Given the description of an element on the screen output the (x, y) to click on. 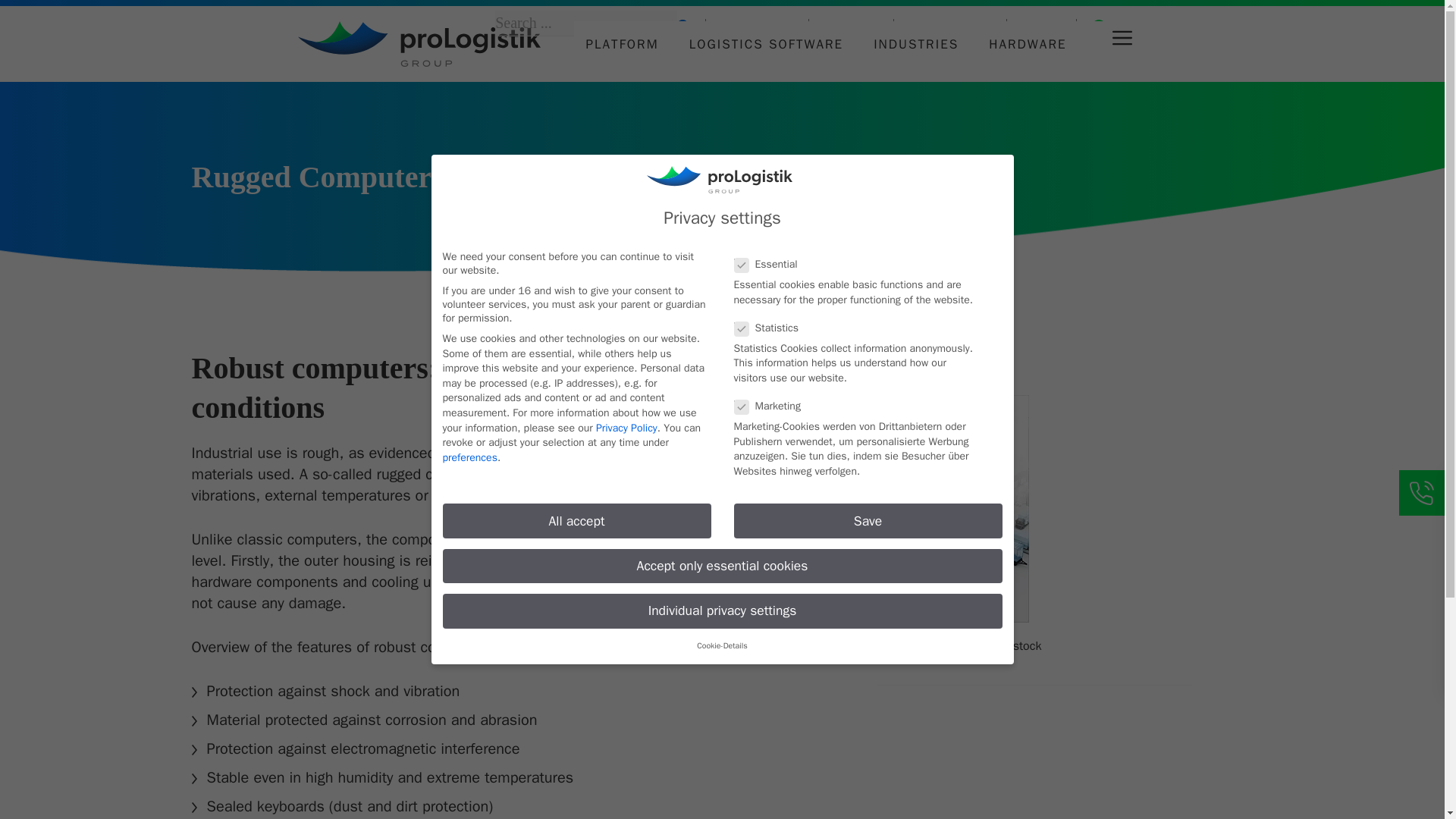
SOLUTIONS (756, 26)
LOGISTICS SOFTWARE (767, 43)
LEXICON (851, 26)
REFERENCES (950, 26)
LOGIN (1041, 26)
PLATFORM (621, 43)
EN (1126, 26)
Search for: (586, 23)
INDUSTRIES (915, 43)
